Given the description of an element on the screen output the (x, y) to click on. 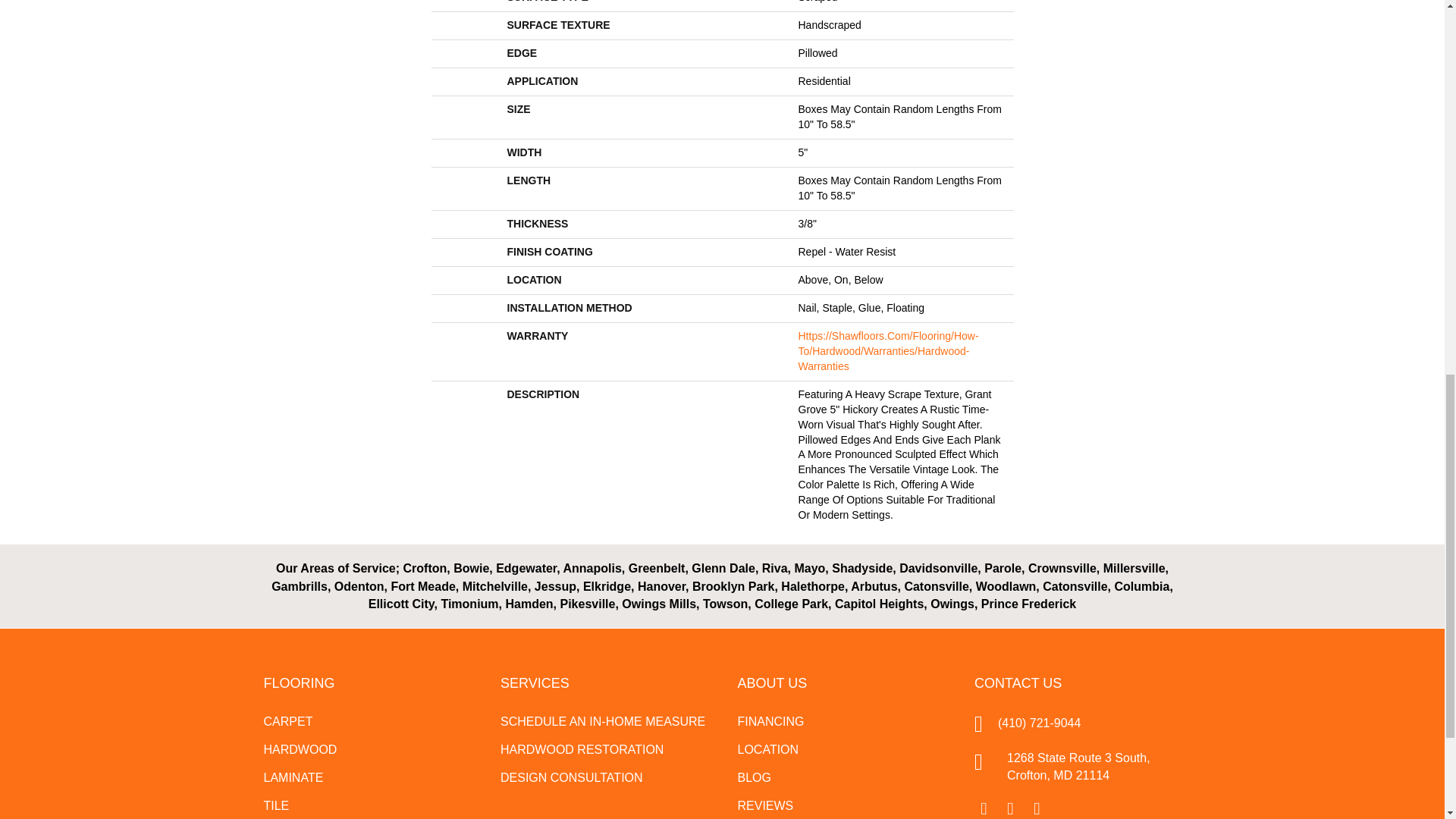
Flooring (298, 683)
ABOUT US (771, 683)
Services (534, 683)
CONTACT US (1017, 683)
